Given the description of an element on the screen output the (x, y) to click on. 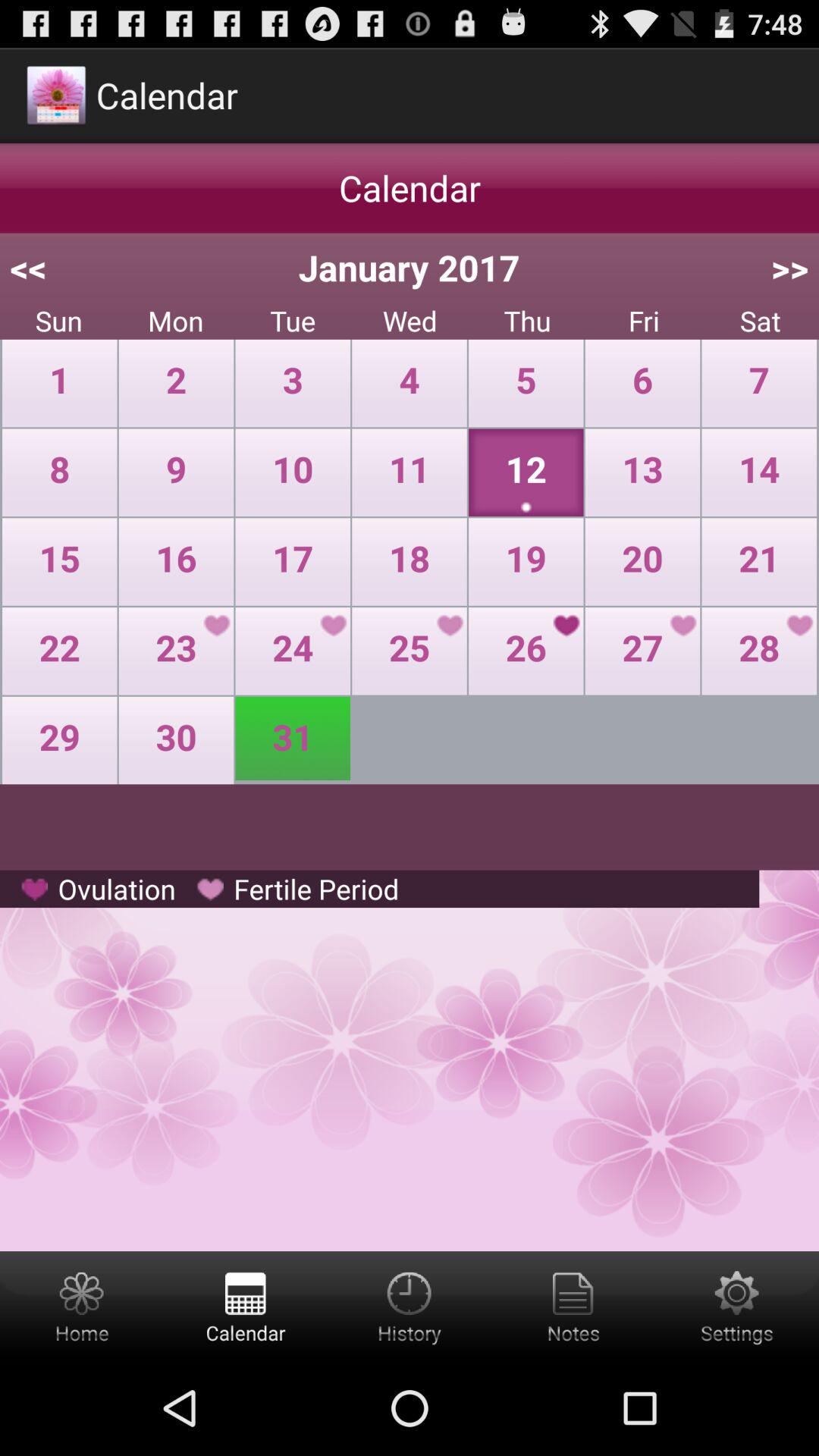
previous entries (409, 1305)
